Given the description of an element on the screen output the (x, y) to click on. 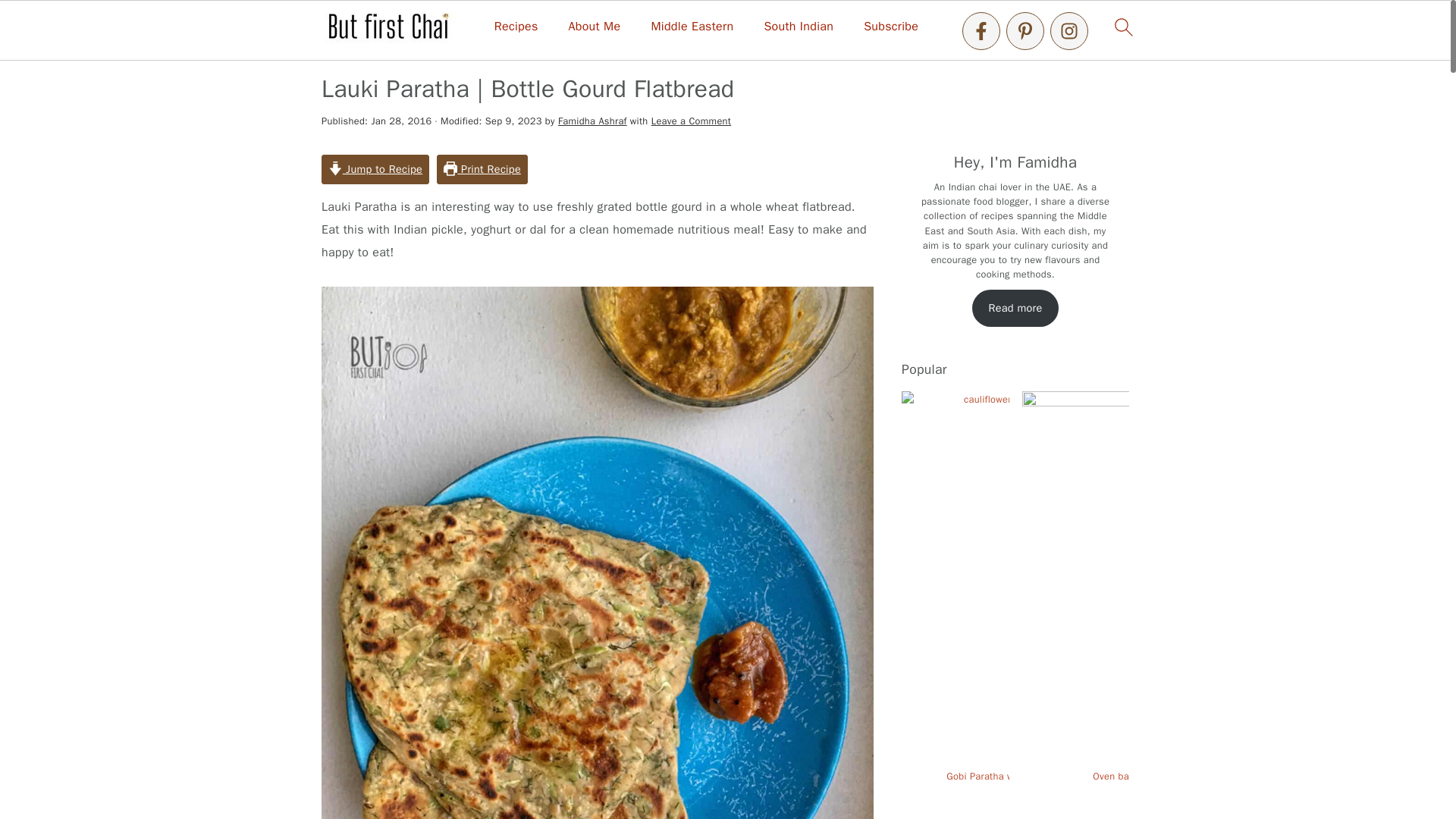
Jump to Recipe (375, 169)
Famidha Ashraf (592, 121)
Indian Bread (458, 50)
Print Recipe (481, 169)
Recipes (516, 26)
South Indian (797, 26)
Leave a Comment (690, 121)
Middle Eastern (691, 26)
Subscribe (890, 26)
Recipes (388, 50)
About Me (595, 26)
search icon (1122, 26)
Home (337, 50)
